Given the description of an element on the screen output the (x, y) to click on. 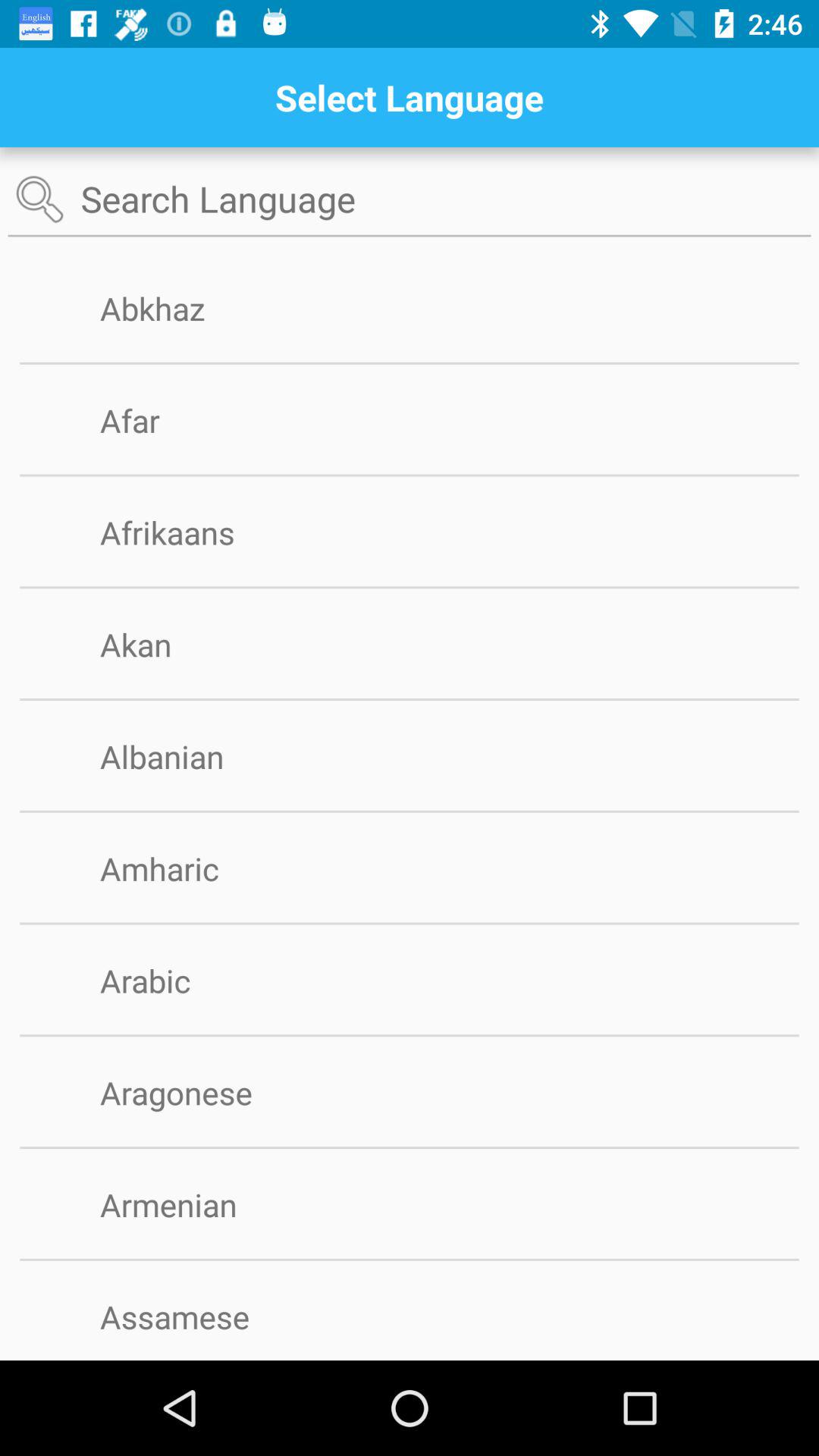
flip to the afar item (154, 419)
